Given the description of an element on the screen output the (x, y) to click on. 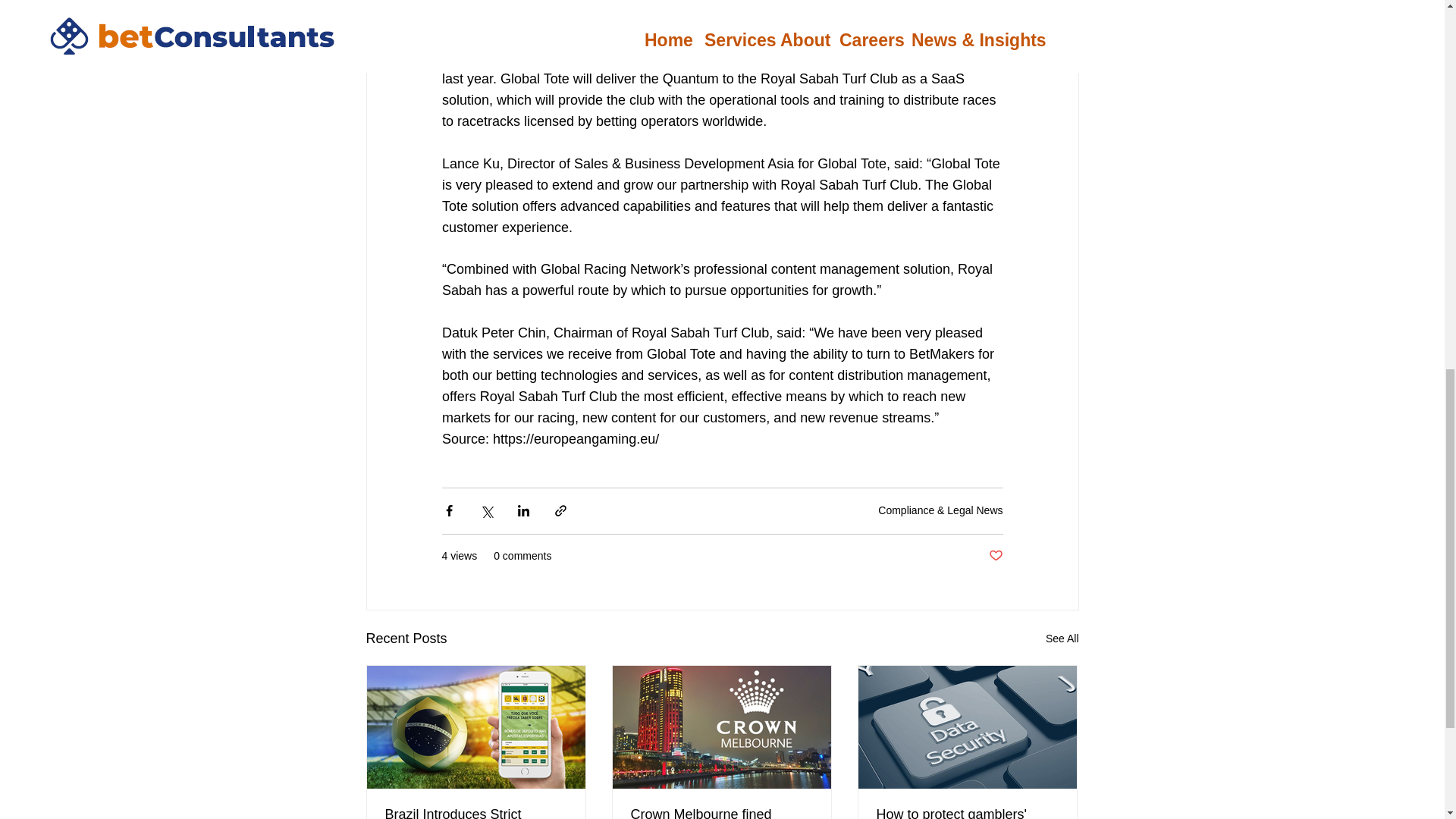
How to protect gamblers' personal information (967, 812)
Post not marked as liked (995, 555)
See All (1061, 639)
Brazil Introduces Strict Regulations for Sports Betting (476, 812)
